Given the description of an element on the screen output the (x, y) to click on. 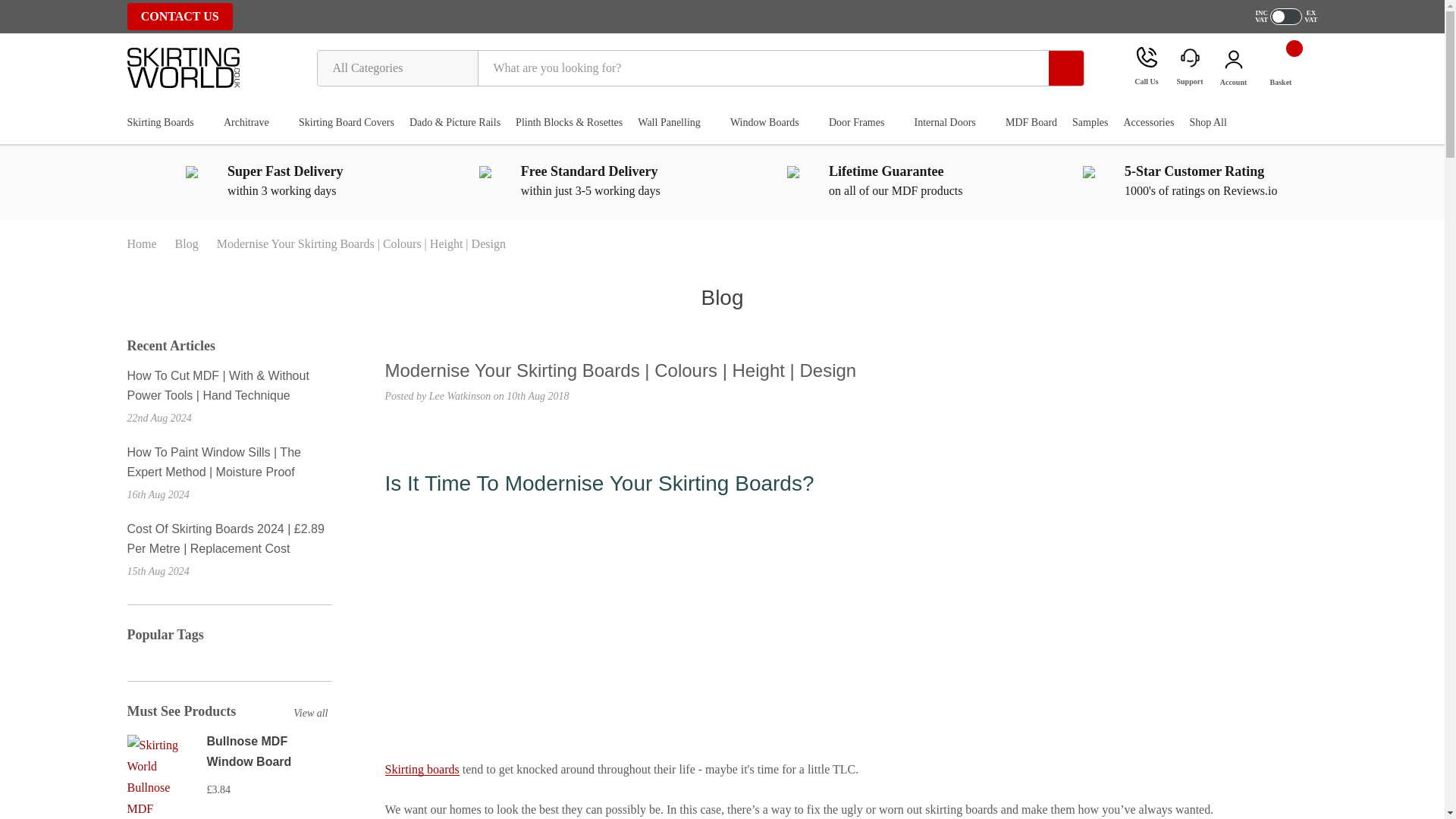
Email (414, 430)
Call Us (1147, 67)
Pinterest (515, 430)
Support (1189, 67)
Linkedin (490, 430)
Print (440, 430)
Skirting World (184, 67)
Facebook (390, 430)
Skirting Boards (160, 122)
Architrave (246, 122)
